Given the description of an element on the screen output the (x, y) to click on. 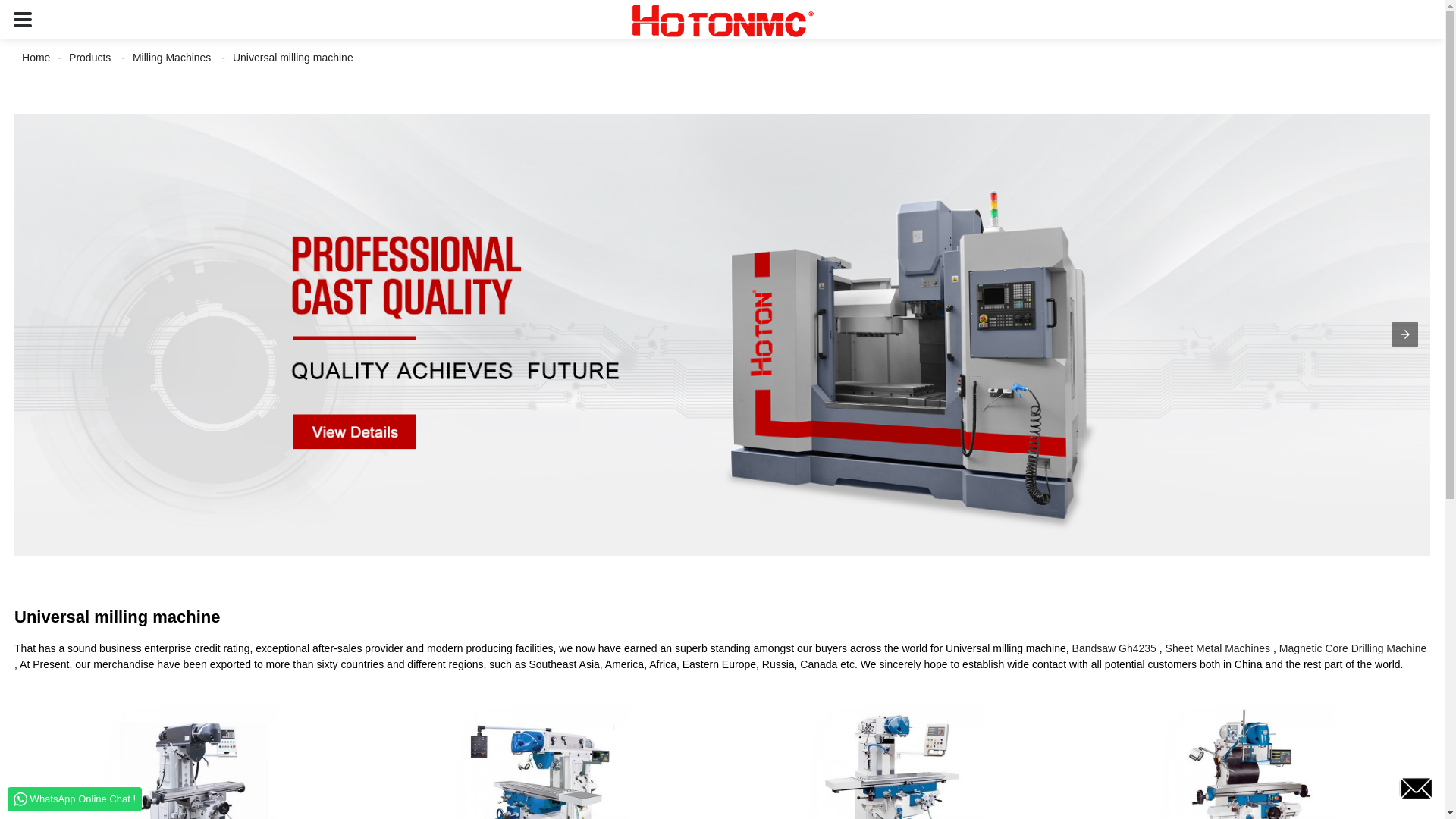
Home (36, 57)
Milling Machines (171, 57)
Bandsaw Gh4235 (1113, 648)
Sheet Metal Machines (1218, 648)
Sheet Metal Machines (1218, 648)
Milling Machines (171, 57)
Magnetic Core Drilling Machine (1352, 648)
Universal milling machine (293, 57)
Products (89, 57)
Products (89, 57)
Bandsaw Gh4235 (1113, 648)
Magnetic Core Drilling Machine (1352, 648)
